Given the description of an element on the screen output the (x, y) to click on. 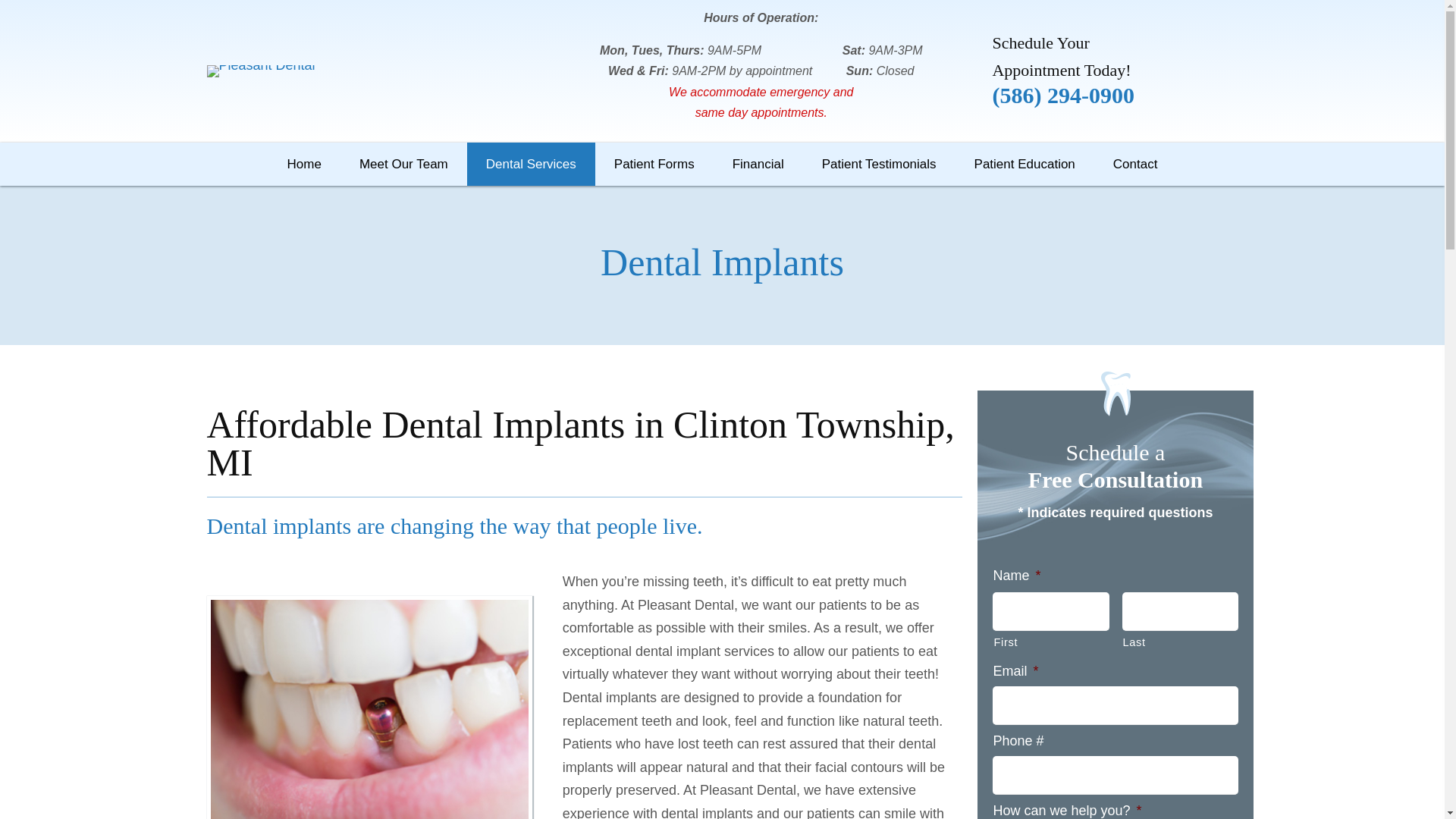
Meet Our Team (403, 163)
Patient Education (1024, 163)
Pleasant Dental (369, 709)
Patient Testimonials (879, 163)
Patient Forms (654, 163)
Home (303, 163)
logo (260, 70)
Contact (1135, 163)
Dental Services (531, 163)
Financial (758, 163)
